Given the description of an element on the screen output the (x, y) to click on. 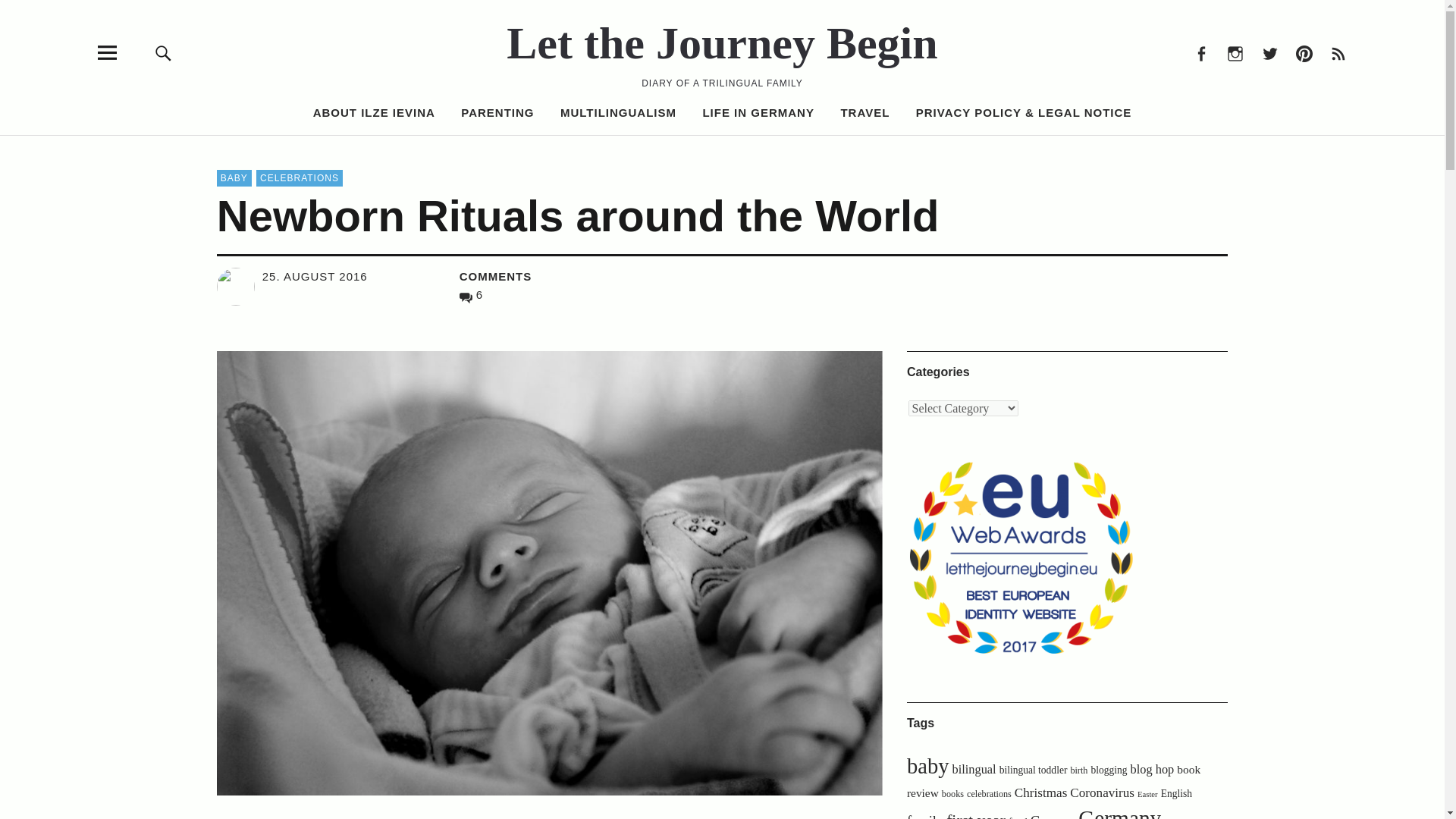
TRAVEL (864, 112)
ABOUT ILZE IEVINA (374, 112)
Search (965, 150)
PARENTING (497, 112)
MULTILINGUALISM (618, 112)
LIFE IN GERMANY (757, 112)
Let the Journey Begin (721, 42)
